Given the description of an element on the screen output the (x, y) to click on. 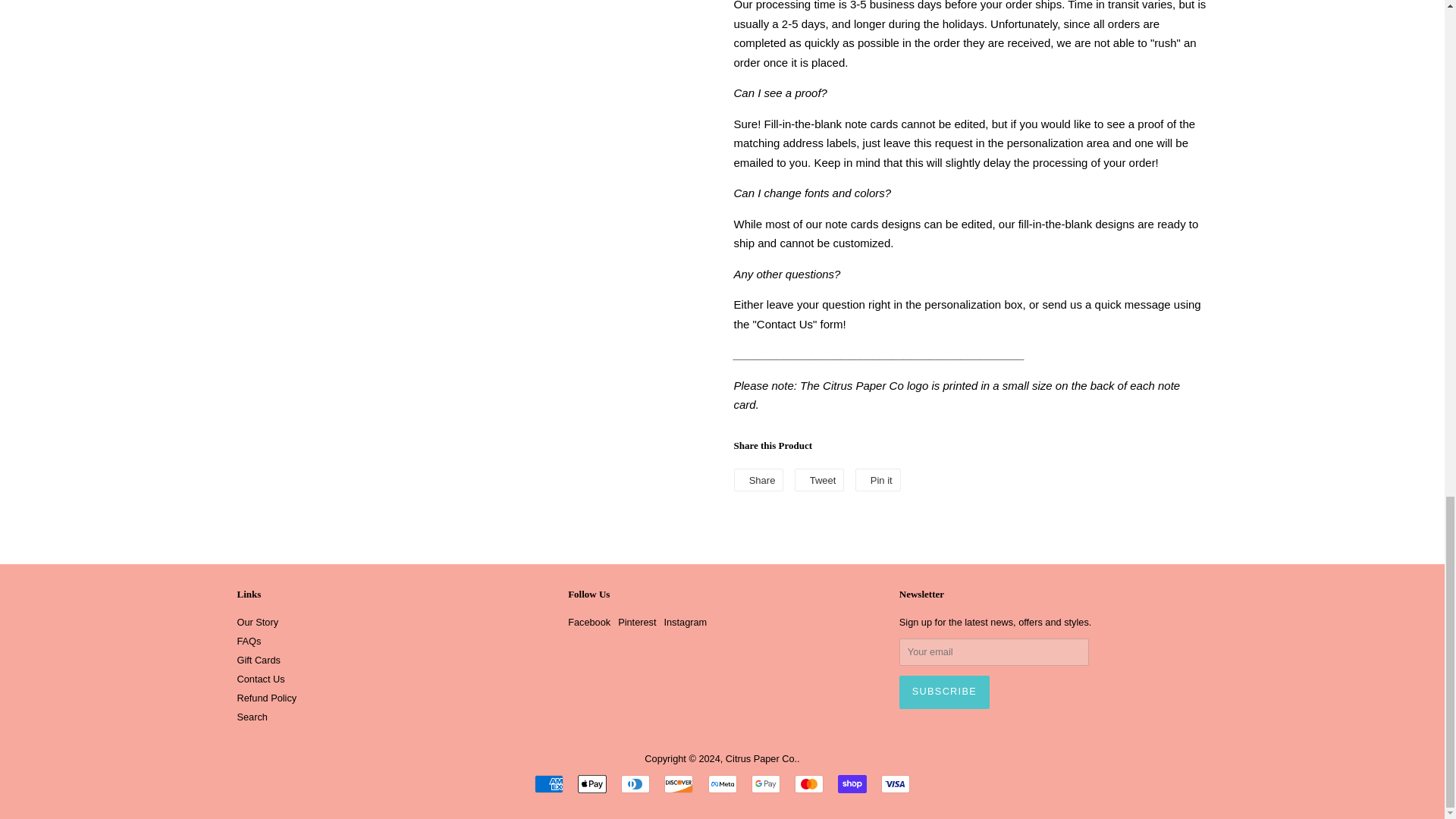
Citrus Paper Co. on Instagram (684, 622)
Shop Pay (852, 783)
Subscribe (944, 692)
Pin on Pinterest (878, 479)
American Express (548, 783)
Diners Club (635, 783)
Apple Pay (592, 783)
Mastercard (809, 783)
Meta Pay (721, 783)
Tweet on Twitter (819, 479)
Visa (895, 783)
Discover (678, 783)
Google Pay (765, 783)
Citrus Paper Co. on Facebook (588, 622)
Citrus Paper Co. on Pinterest (636, 622)
